Given the description of an element on the screen output the (x, y) to click on. 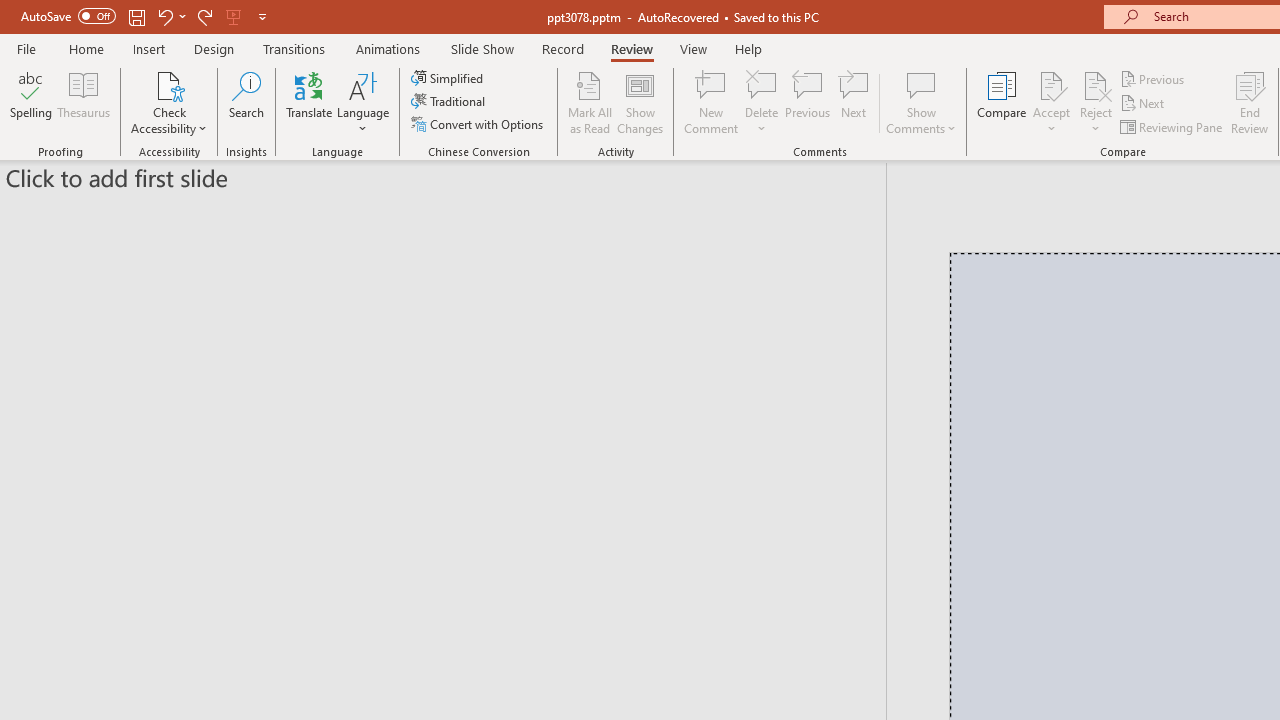
Reject Change (1096, 84)
Check Accessibility (169, 84)
Delete (762, 84)
Accept Change (1051, 84)
Outline (452, 174)
